Given the description of an element on the screen output the (x, y) to click on. 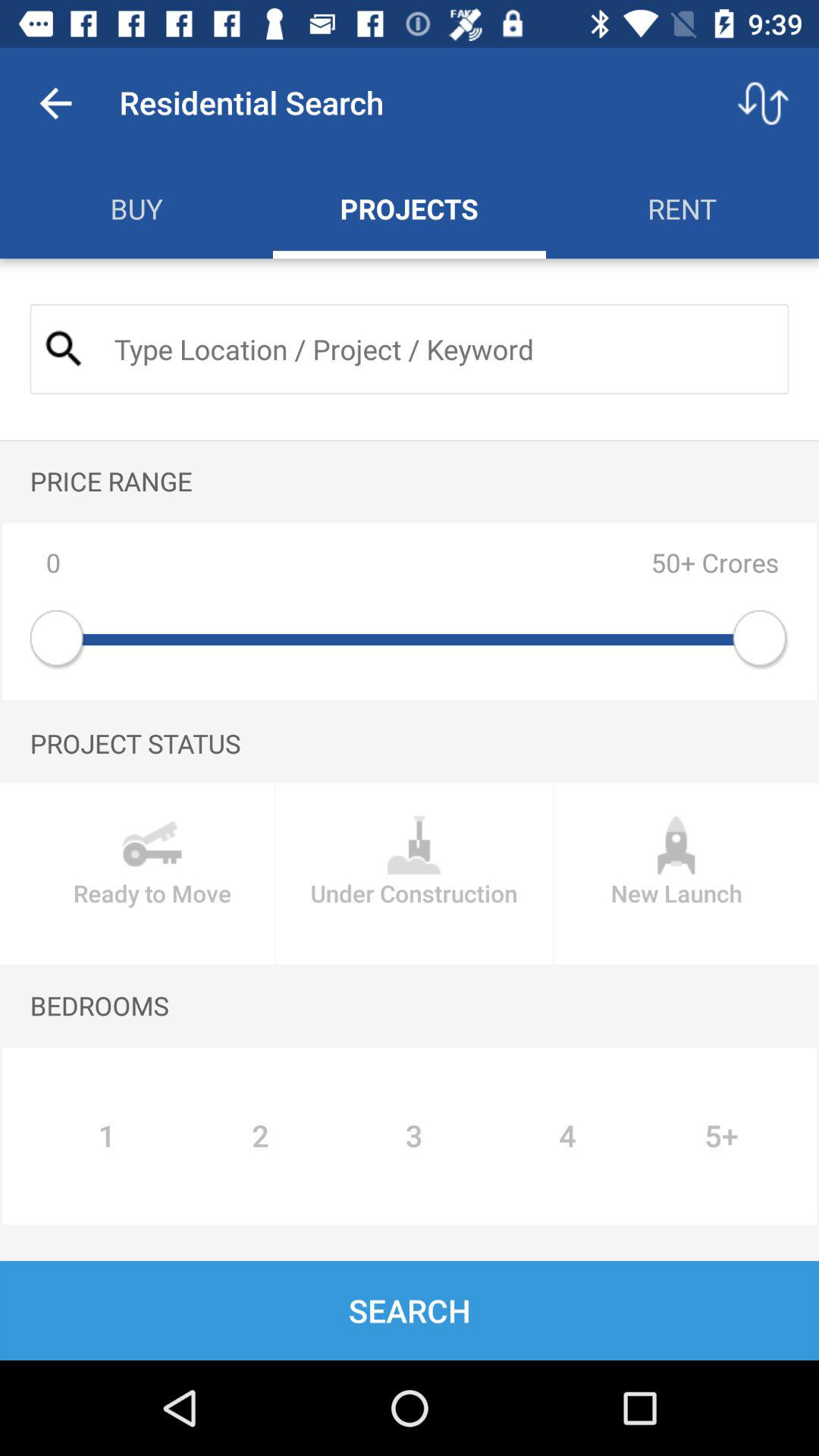
open icon next to 3 item (567, 1135)
